Given the description of an element on the screen output the (x, y) to click on. 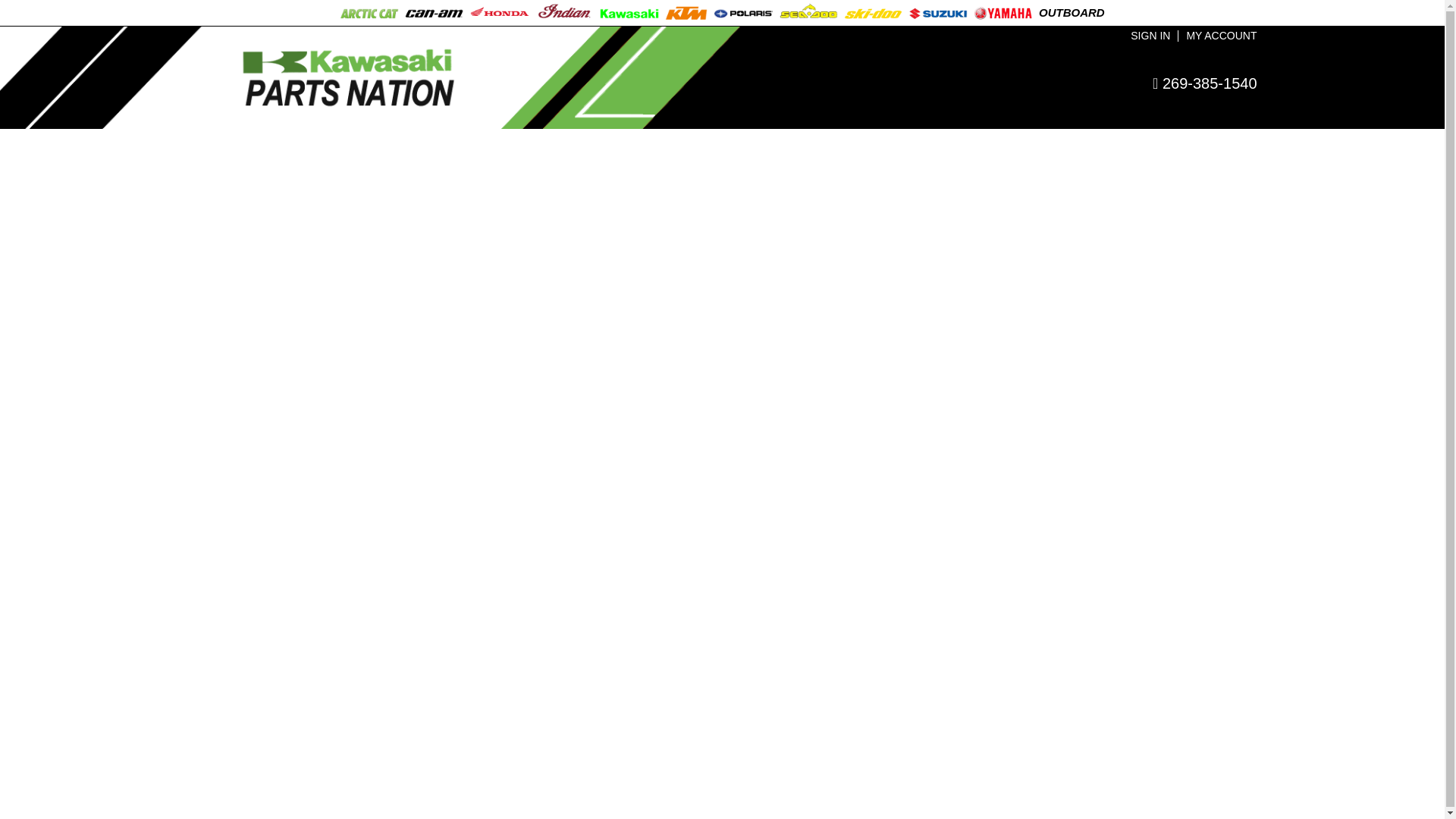
SIGN IN (1150, 35)
MY ACCOUNT (1221, 35)
Sign In (1150, 35)
OUTBOARD (1071, 12)
